Given the description of an element on the screen output the (x, y) to click on. 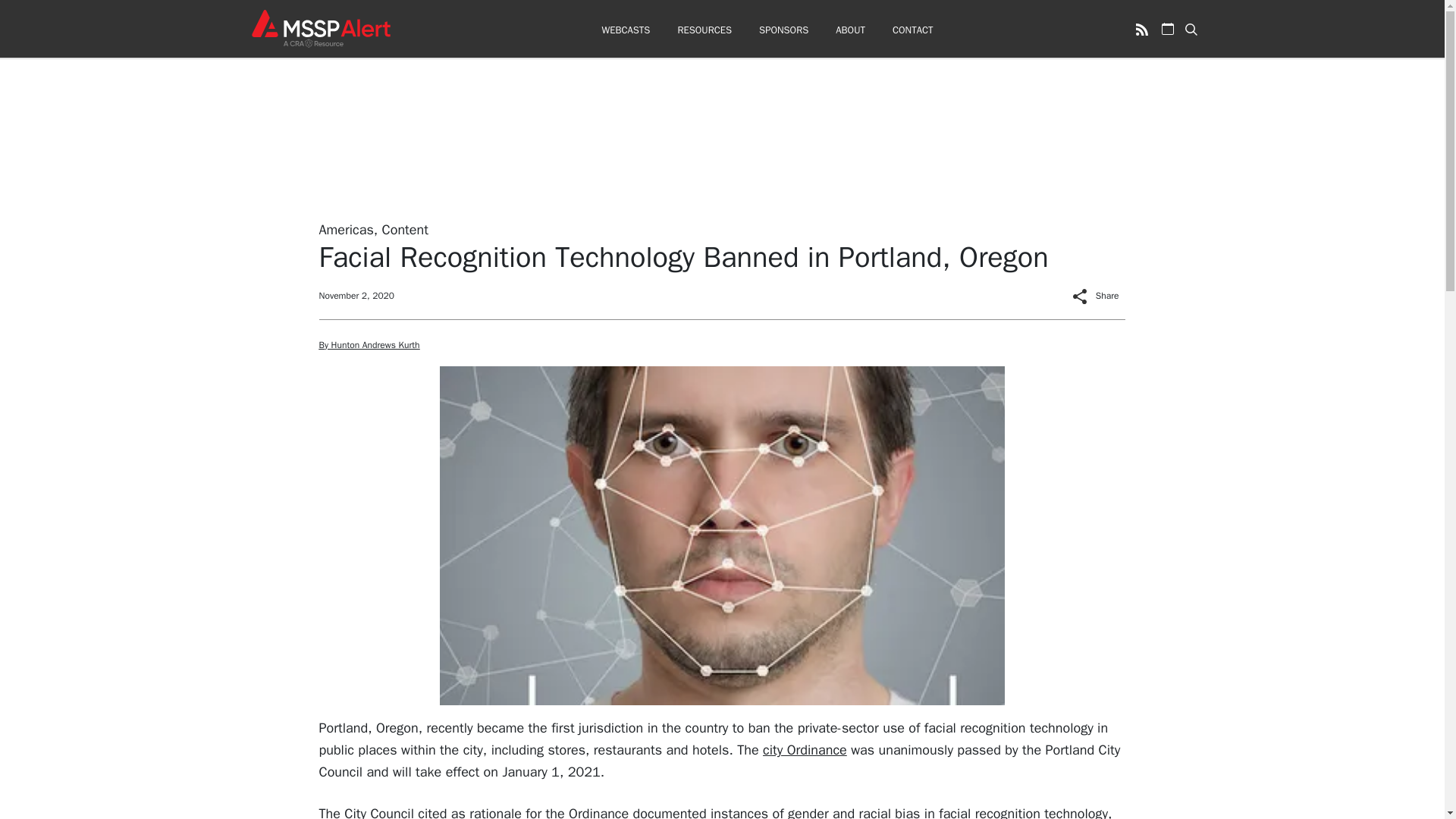
RESOURCES (704, 30)
MSSP Alert (319, 27)
Americas (345, 229)
Content (404, 229)
WEBCASTS (625, 30)
View Cybersecurity Conference Calendar (1167, 28)
CONTACT (912, 30)
By Hunton Andrews Kurth (368, 345)
ABOUT (849, 30)
city Ordinance (804, 750)
